Given the description of an element on the screen output the (x, y) to click on. 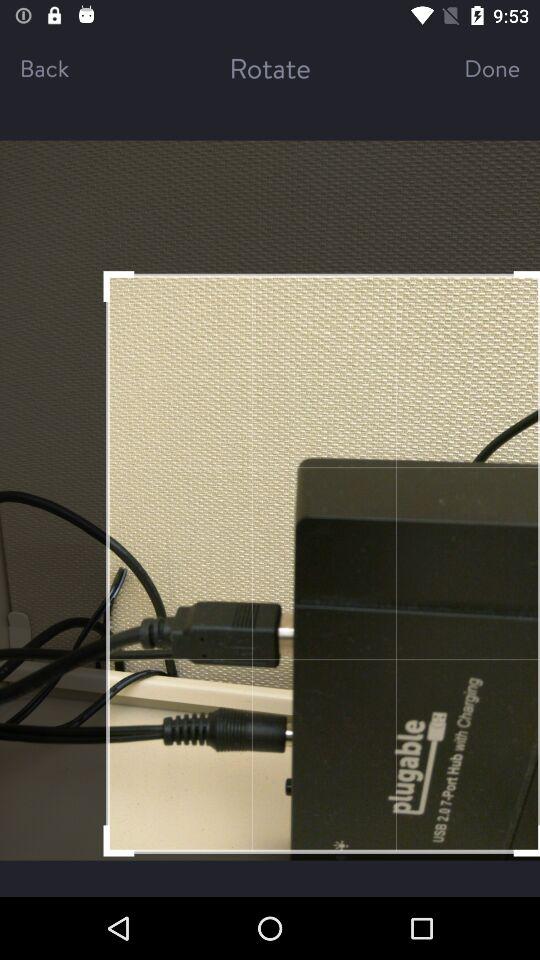
press the back at the top left corner (65, 67)
